Given the description of an element on the screen output the (x, y) to click on. 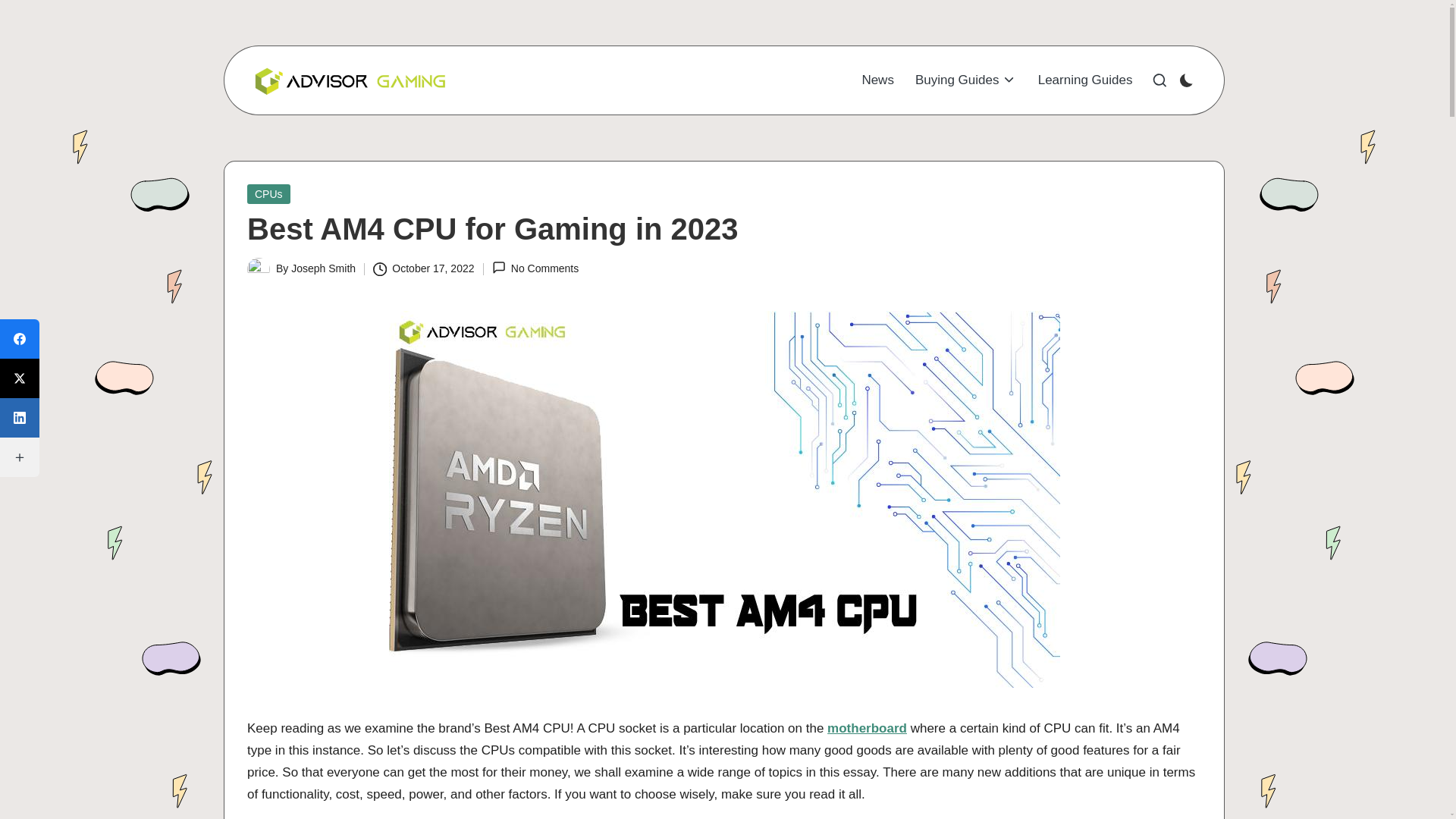
Learning Guides (1085, 80)
View all posts by Joseph Smith (323, 268)
News (877, 80)
Buying Guides (965, 80)
